Given the description of an element on the screen output the (x, y) to click on. 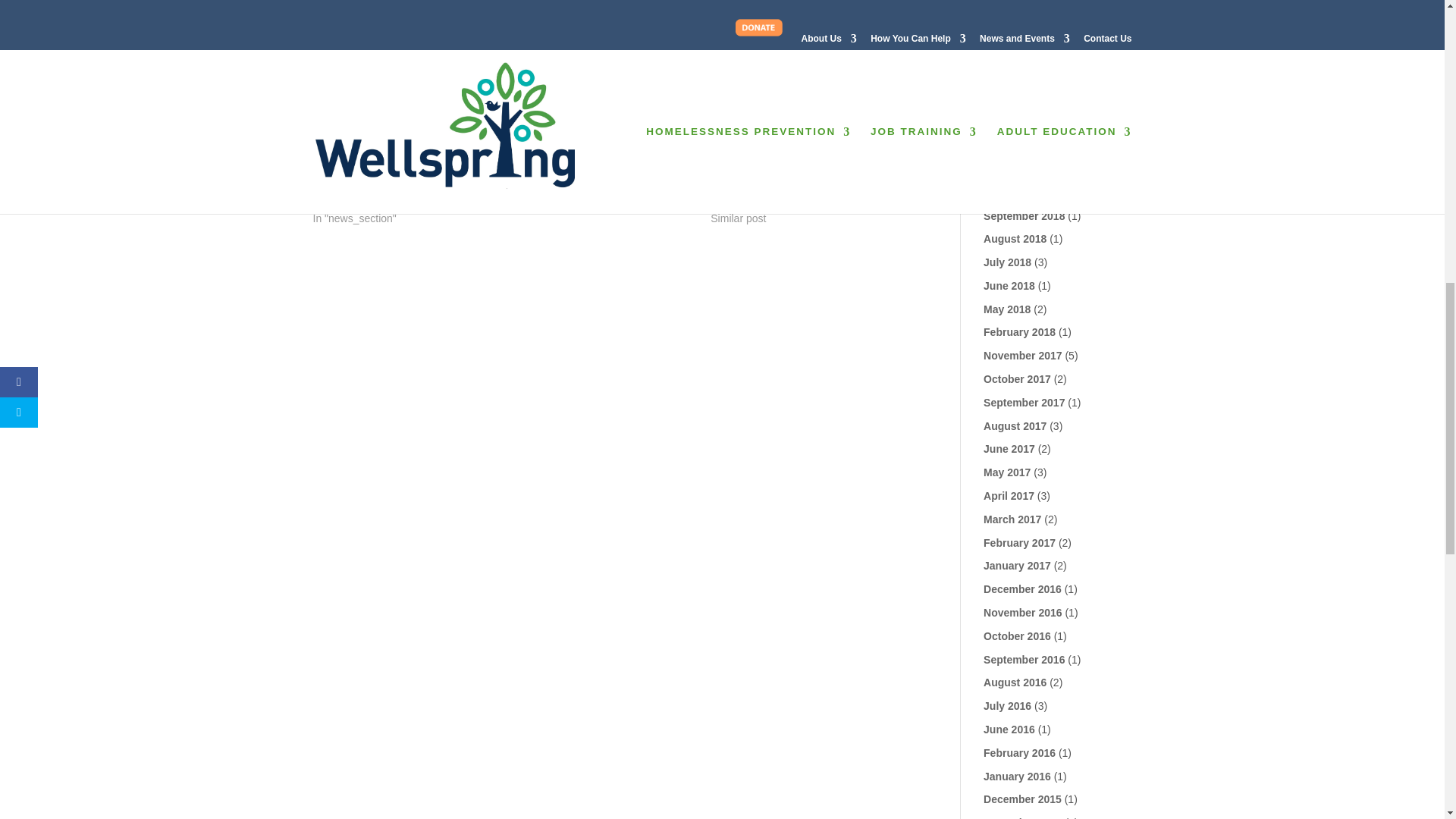
Click to share on Twitter (324, 85)
WERC Volunteer Mentors are Needed (780, 180)
Click to email a link to a friend (384, 85)
Click to share on Facebook (354, 85)
